Given the description of an element on the screen output the (x, y) to click on. 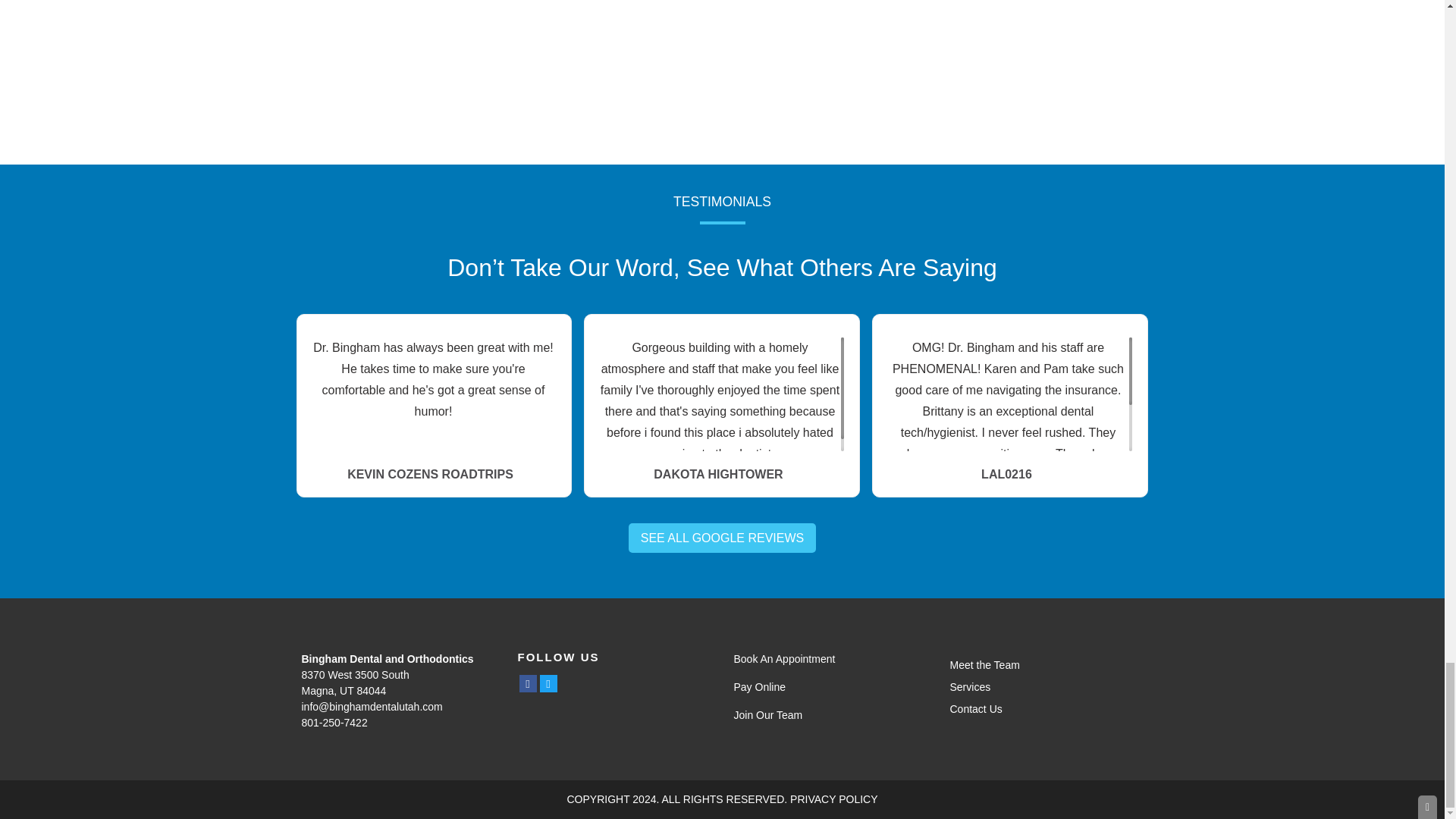
LAL0216 (1009, 474)
Dakota Hightower (722, 474)
Kevin Cozens Roadtrips (434, 474)
